Given the description of an element on the screen output the (x, y) to click on. 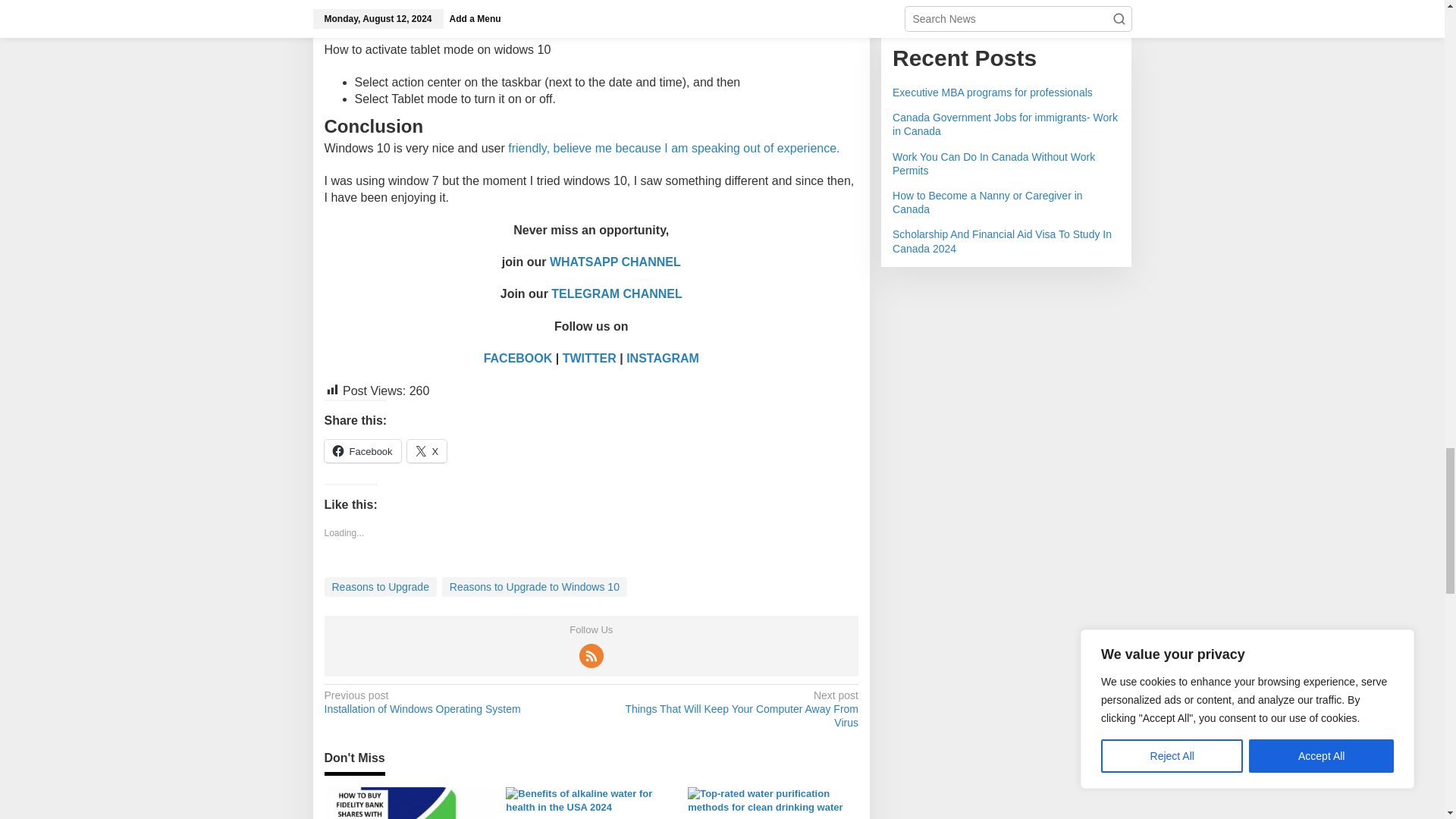
RSS (591, 655)
Click to share on X (426, 450)
WHATSAPP CHANNEL (615, 261)
Click to share on Facebook (362, 450)
